Given the description of an element on the screen output the (x, y) to click on. 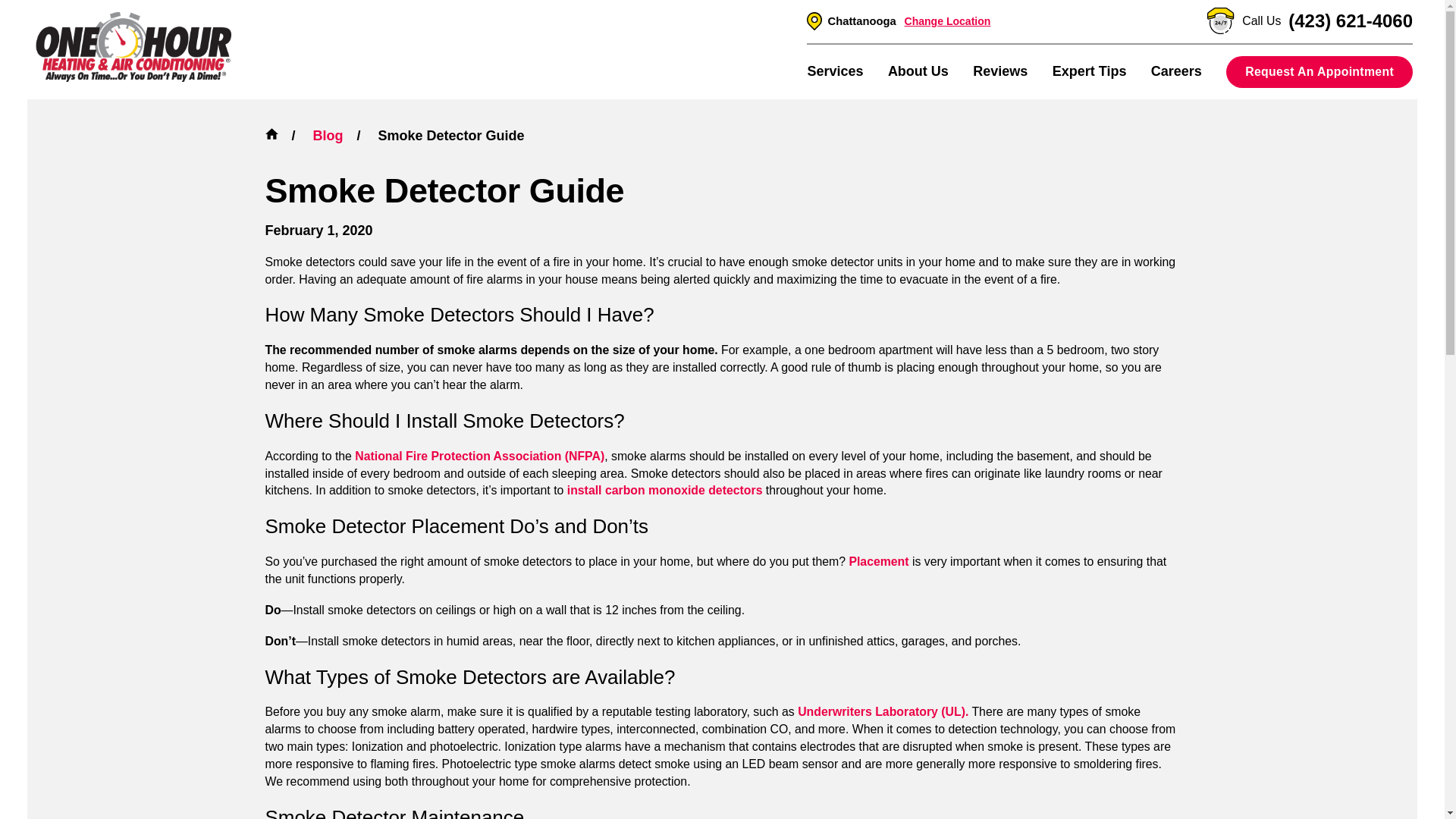
About Us (918, 71)
Change Location (947, 21)
Services (834, 71)
